Given the description of an element on the screen output the (x, y) to click on. 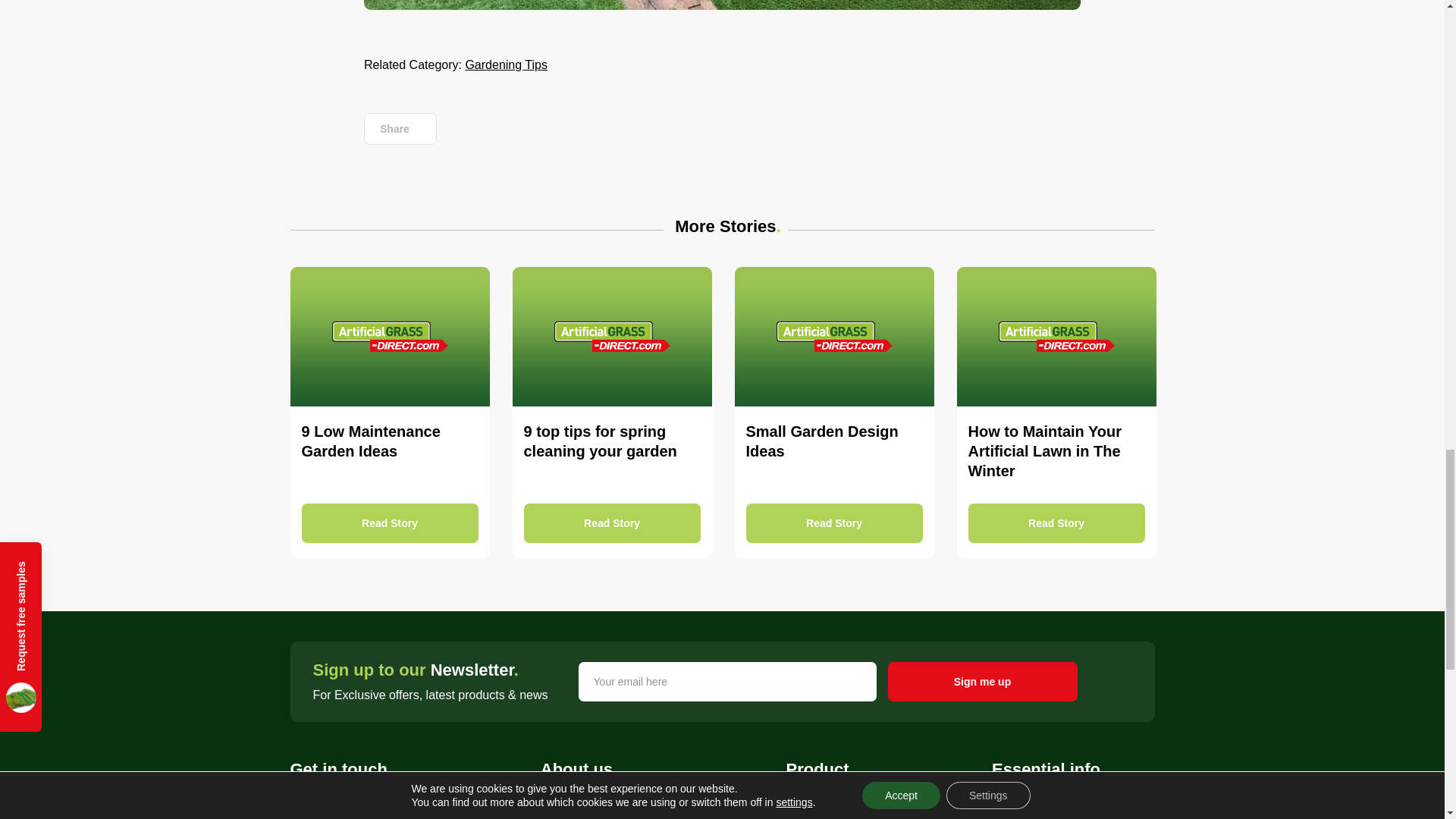
Share (400, 128)
9 top tips for spring cleaning your garden (611, 411)
Small Garden Design Ideas (833, 411)
Sign me up (981, 681)
How to Maintain Your Artificial Lawn in The Winter (1056, 411)
Gardening Tips (505, 65)
9 Low Maintenance Garden Ideas (389, 411)
